Given the description of an element on the screen output the (x, y) to click on. 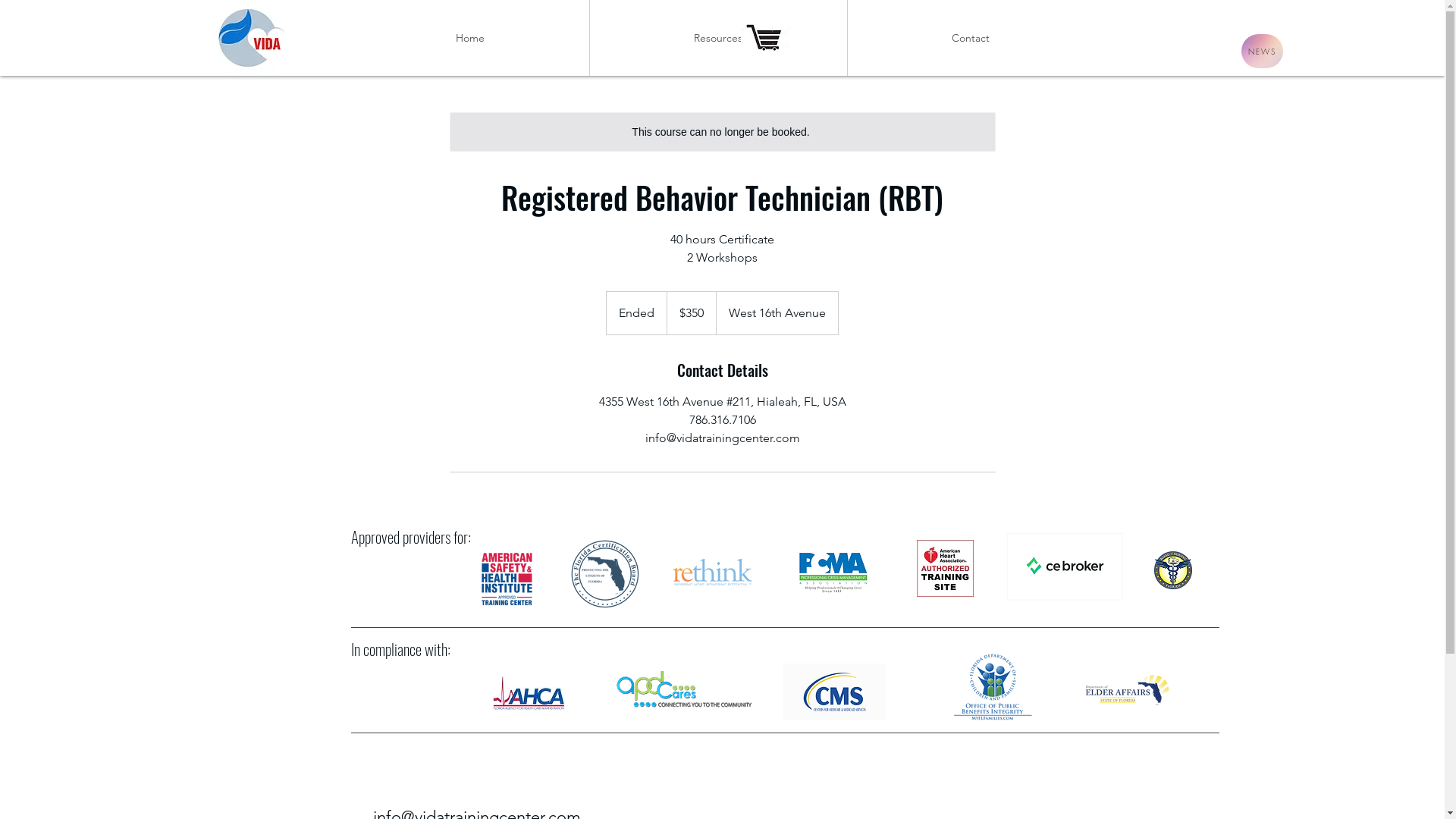
Contact Element type: text (970, 37)
Resources Element type: text (718, 37)
NEWS Element type: text (1261, 51)
Home Element type: text (469, 37)
